Given the description of an element on the screen output the (x, y) to click on. 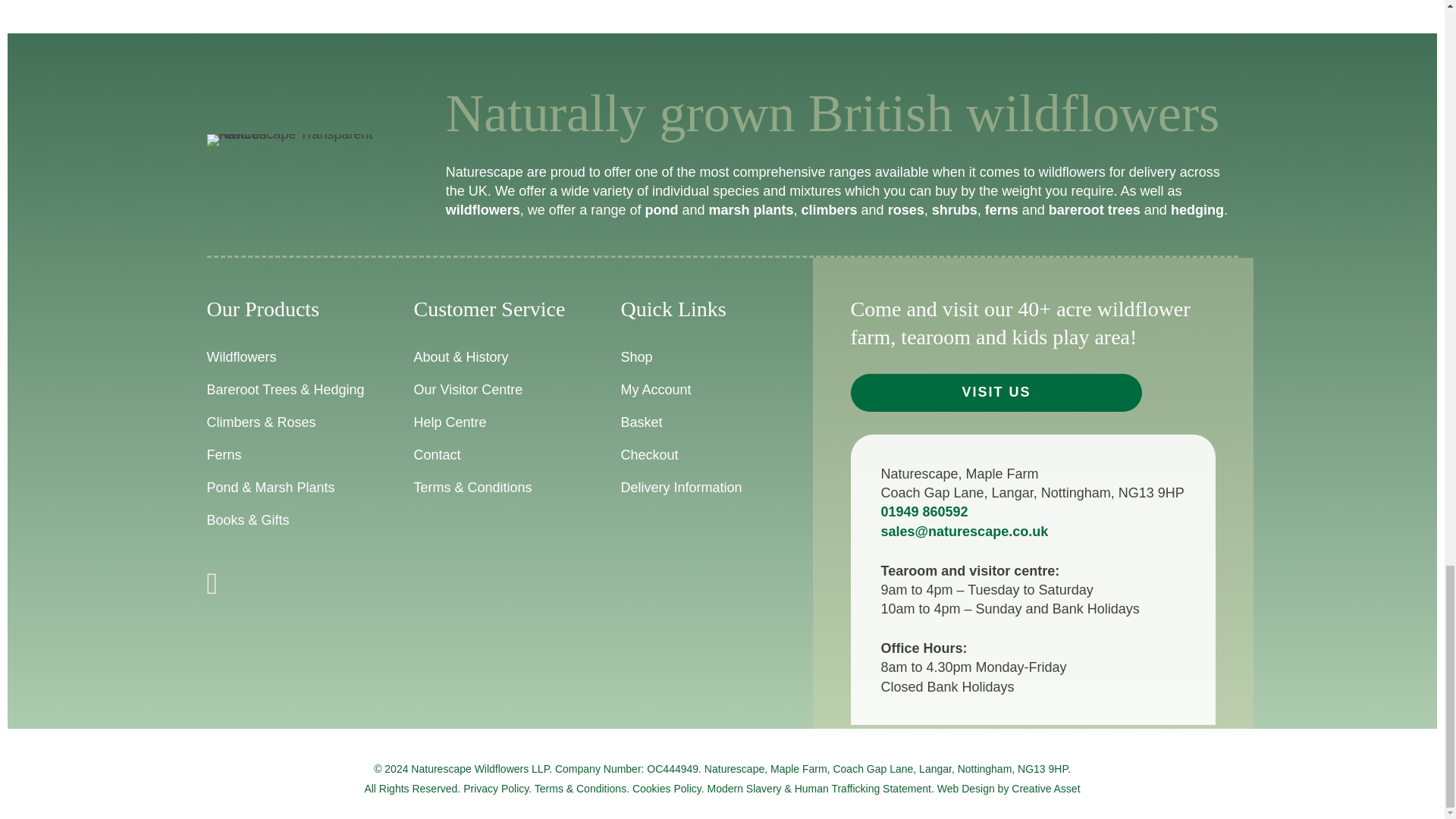
Naturescape Transparent Favicon (298, 140)
